Given the description of an element on the screen output the (x, y) to click on. 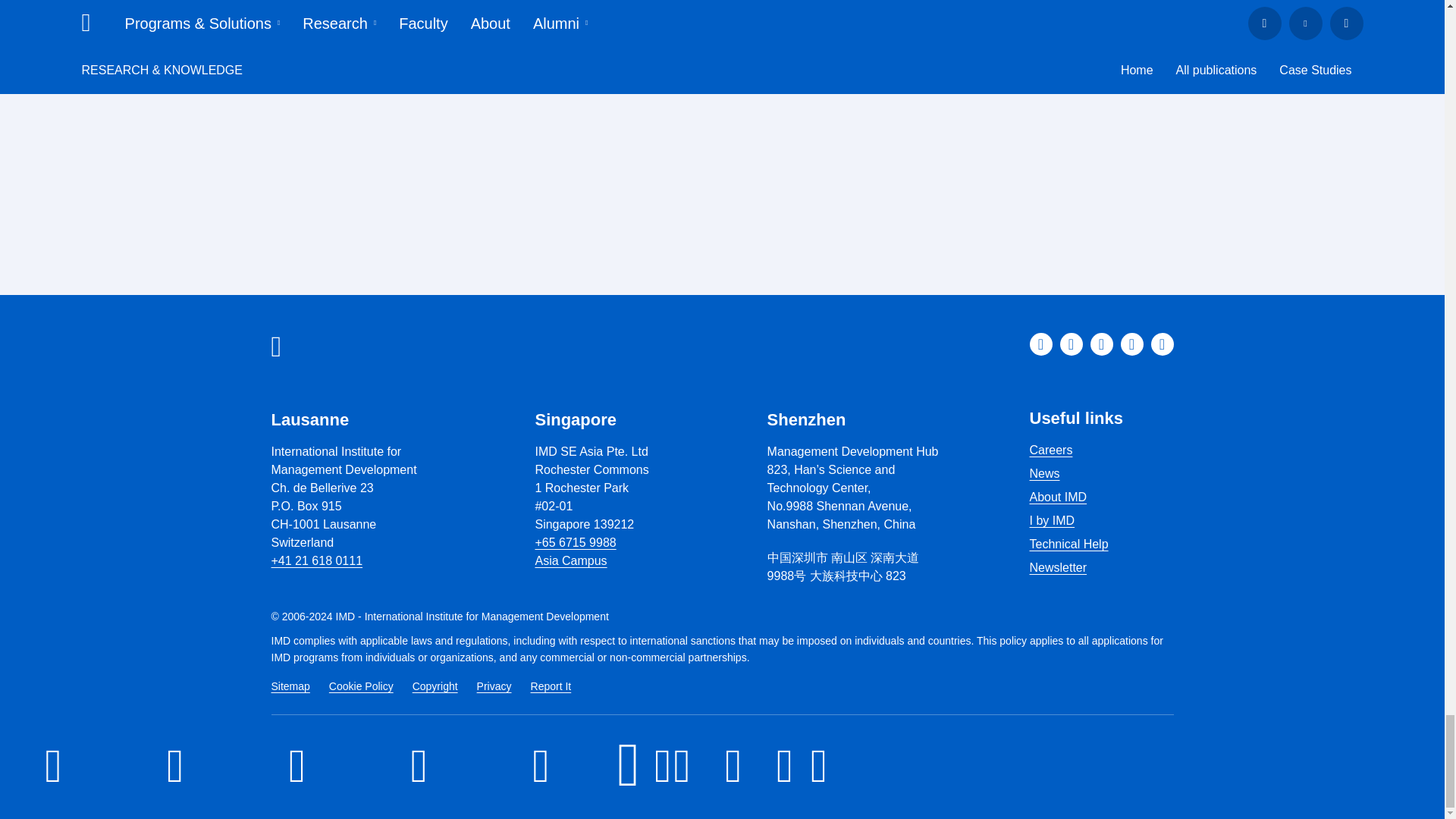
Twitter (1131, 343)
Facebook (1071, 343)
Instagram (1101, 343)
LinkedIn (1040, 343)
YouTube (1162, 343)
